Given the description of an element on the screen output the (x, y) to click on. 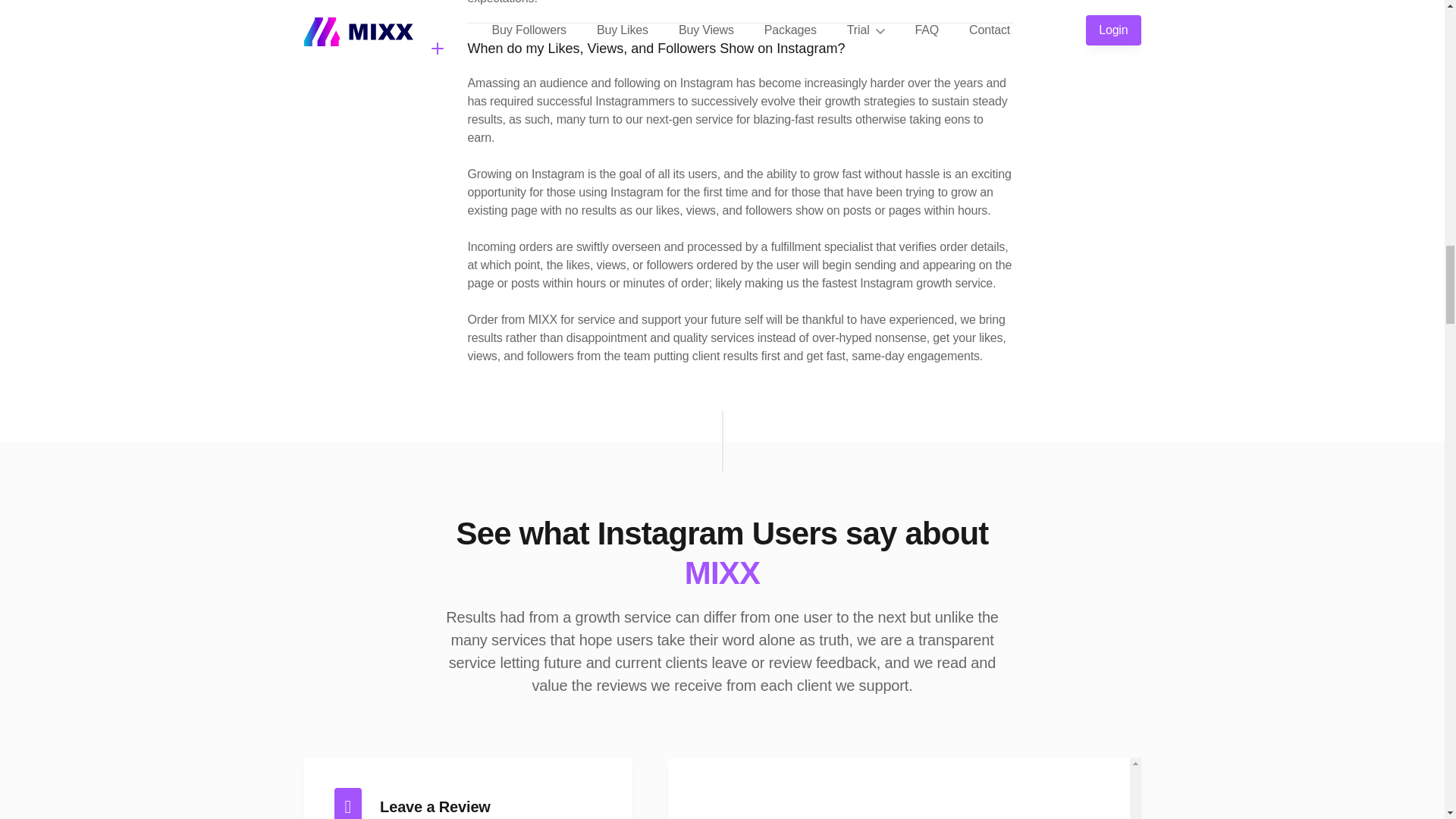
When do my Likes, Views, and Followers Show on Instagram? (740, 48)
